Given the description of an element on the screen output the (x, y) to click on. 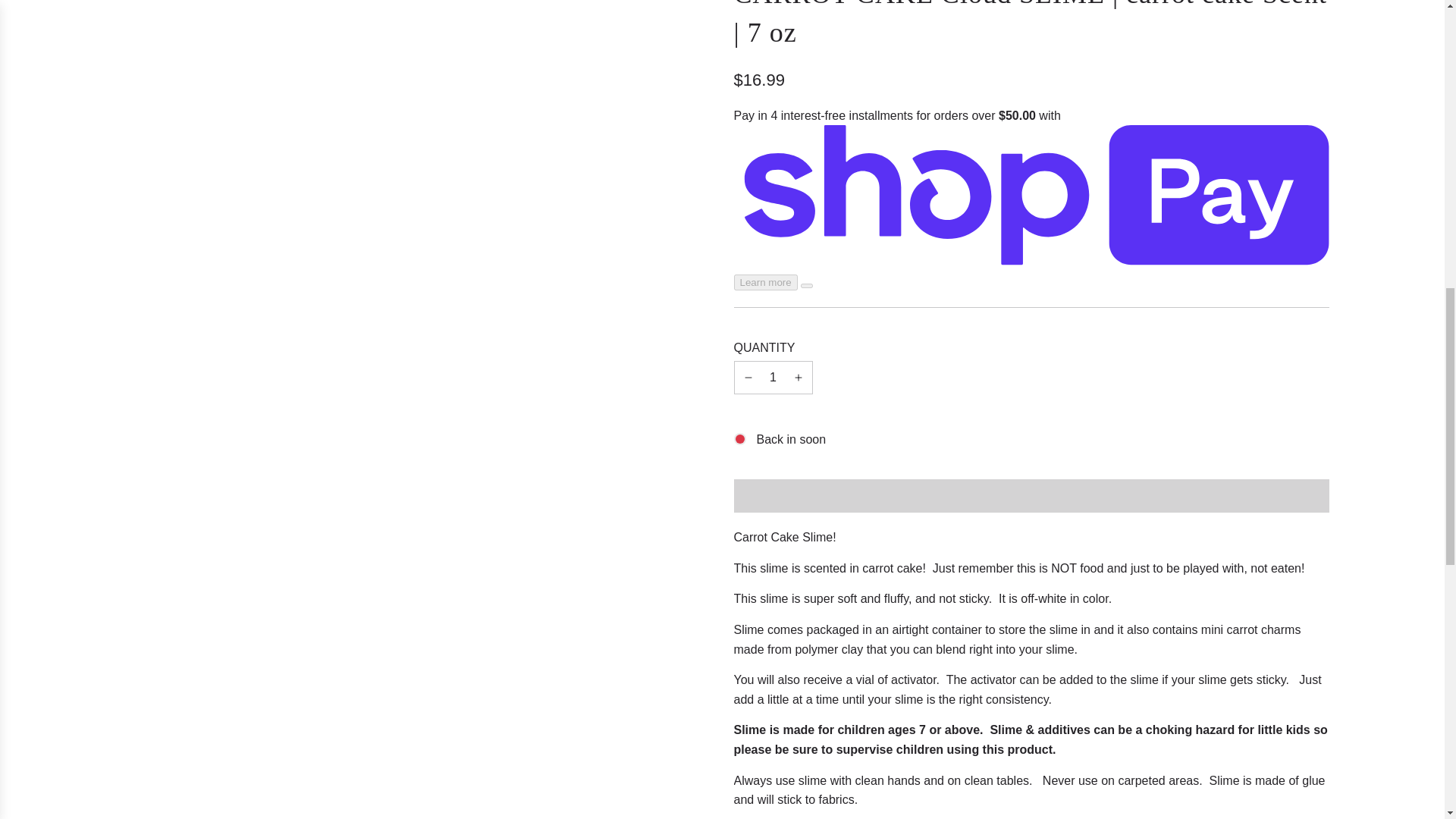
1 (772, 377)
